Given the description of an element on the screen output the (x, y) to click on. 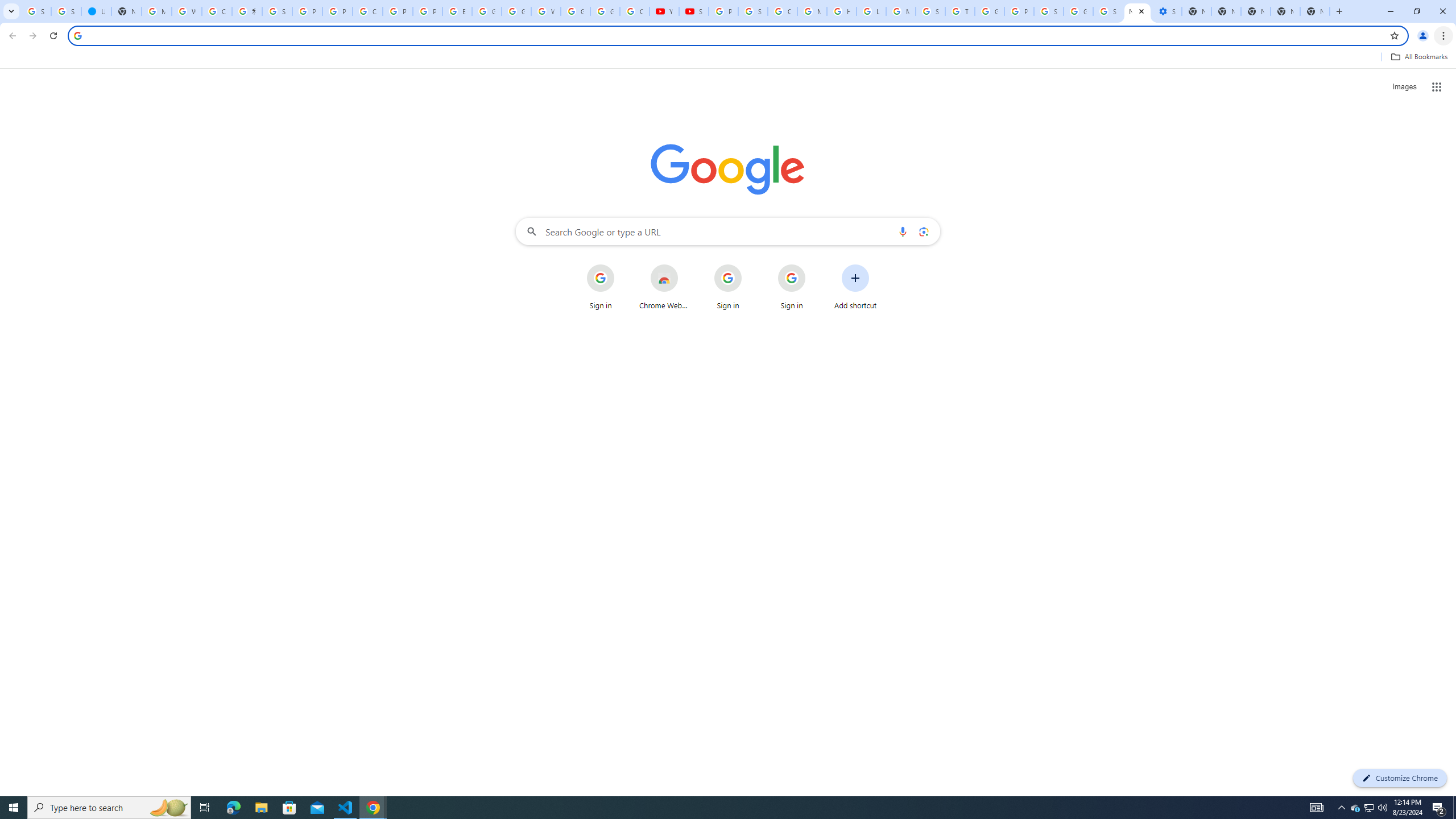
Settings - Performance (1166, 11)
Search by voice (902, 230)
New Tab (1284, 11)
Google Slides: Sign-in (486, 11)
Sign in - Google Accounts (277, 11)
Search by image (922, 230)
